Given the description of an element on the screen output the (x, y) to click on. 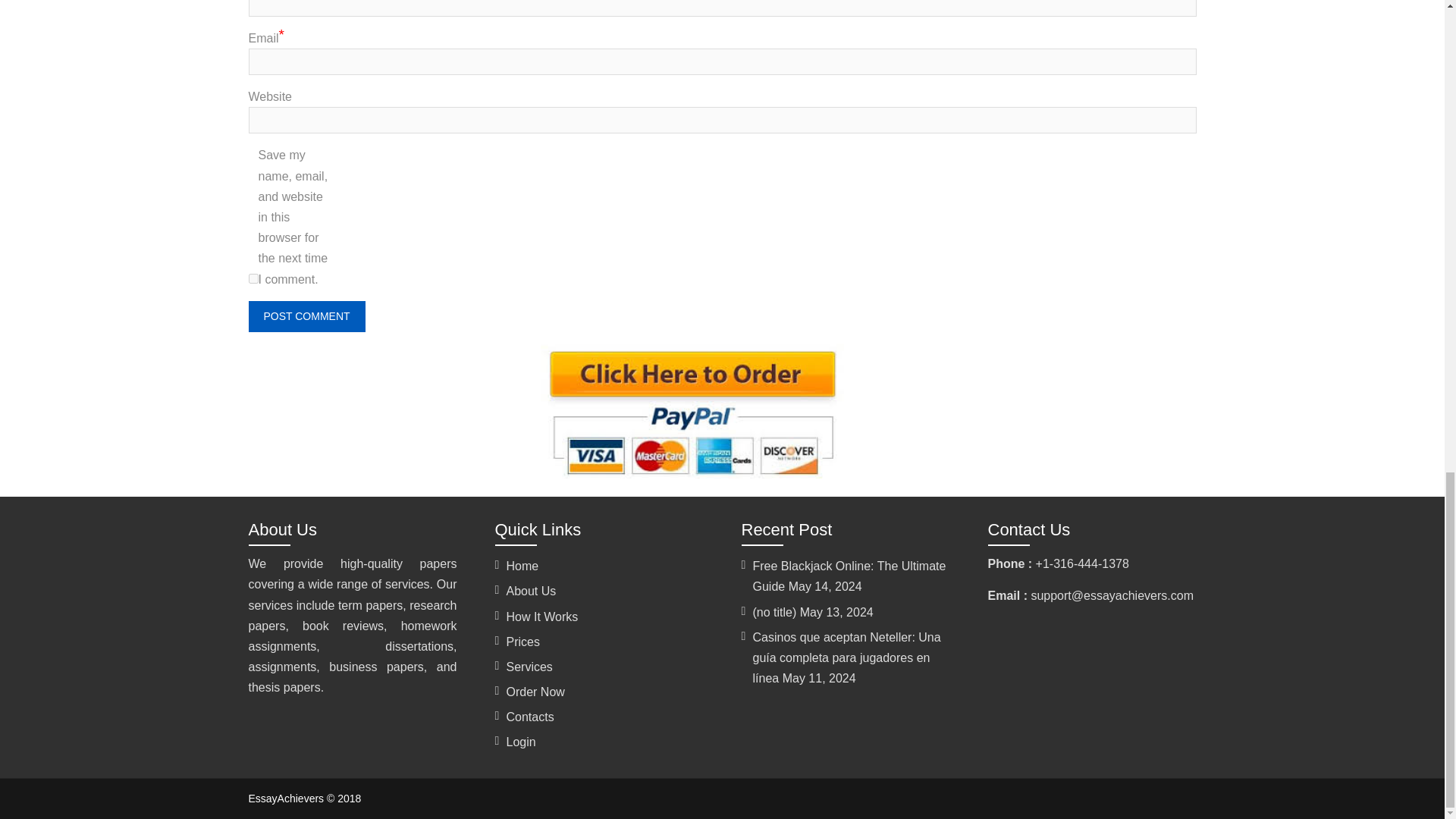
How It Works (542, 616)
Login (520, 741)
Free Blackjack Online: The Ultimate Guide (848, 575)
Post Comment (306, 316)
About Us (531, 590)
yes (253, 278)
Contacts (530, 716)
Order Now (535, 691)
Services (529, 666)
Home (522, 565)
Post Comment (306, 316)
Prices (523, 641)
